Given the description of an element on the screen output the (x, y) to click on. 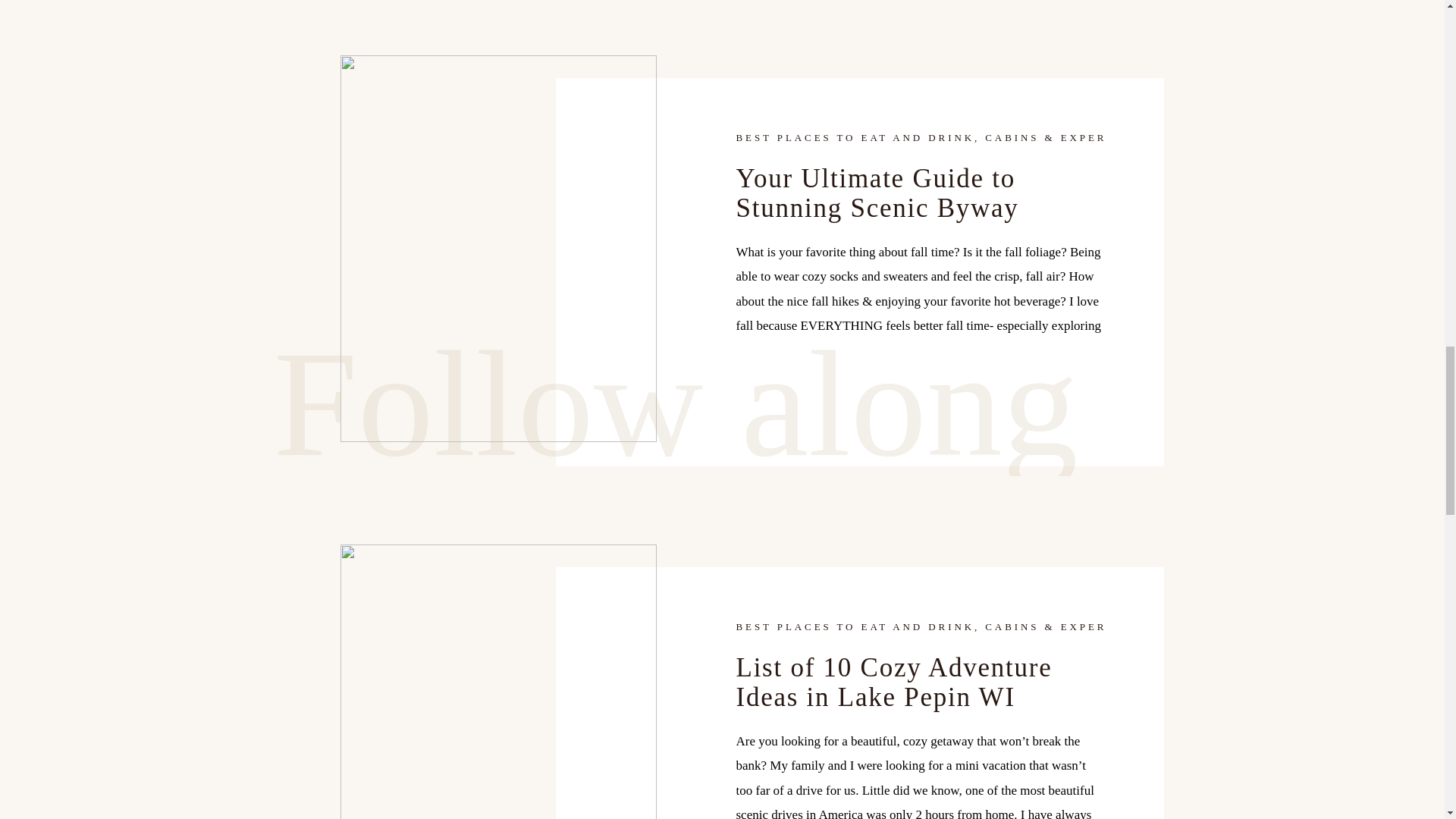
List of 10 Cozy Adventure Ideas in Lake Pepin WI (497, 681)
